Given the description of an element on the screen output the (x, y) to click on. 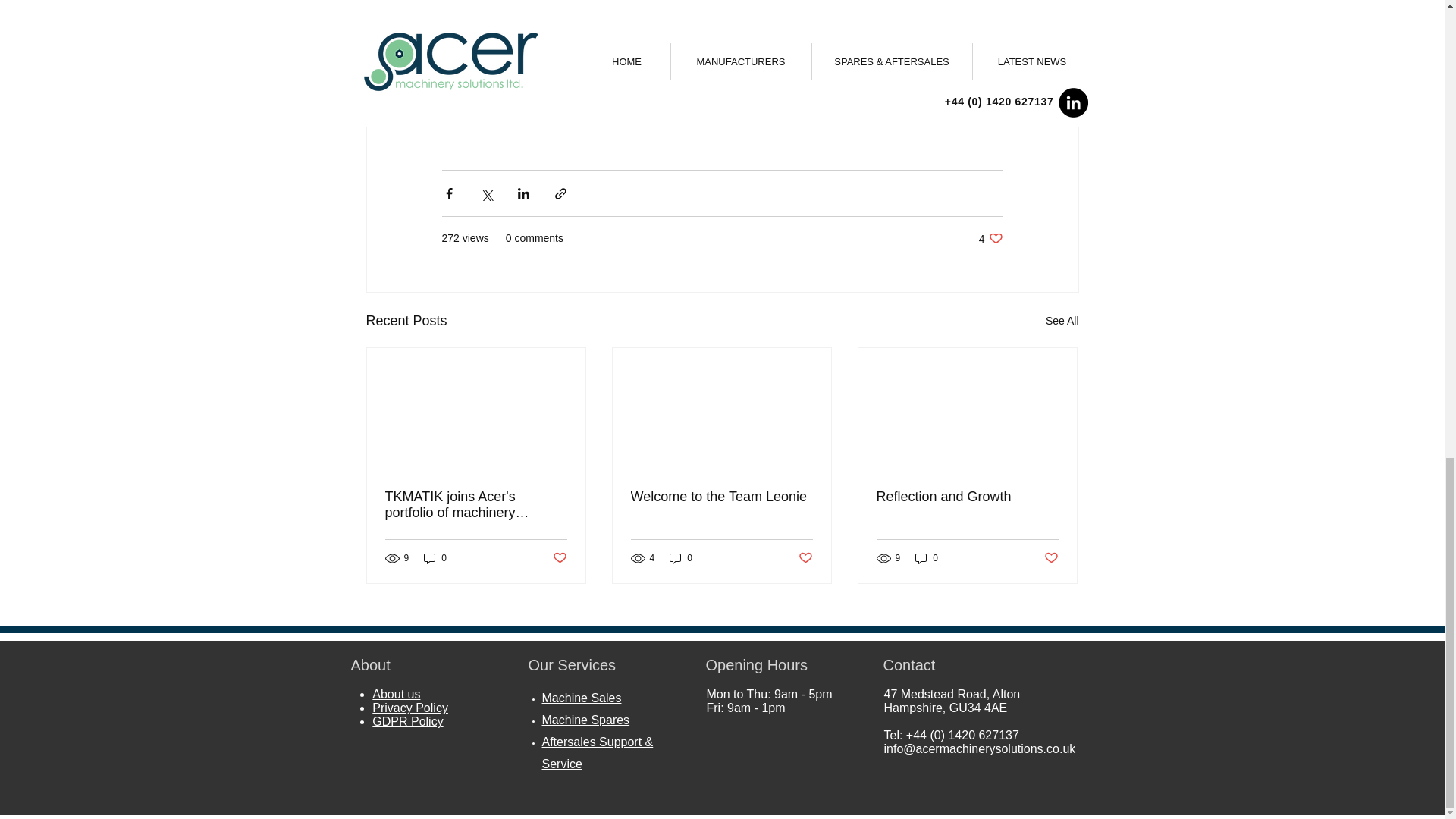
TKMATIK joins Acer's portfolio of machinery manufacturers (476, 504)
0 (435, 558)
GDPR Policy (407, 721)
Post not marked as liked (558, 558)
Privacy Policy (410, 707)
Machine Sales (581, 697)
Machine Spares (990, 237)
Post not marked as liked (584, 719)
Reflection and Growth (804, 558)
See All (967, 496)
Welcome to the Team Leonie (1061, 321)
0 (721, 496)
Post not marked as liked (926, 558)
0 (1050, 558)
